Given the description of an element on the screen output the (x, y) to click on. 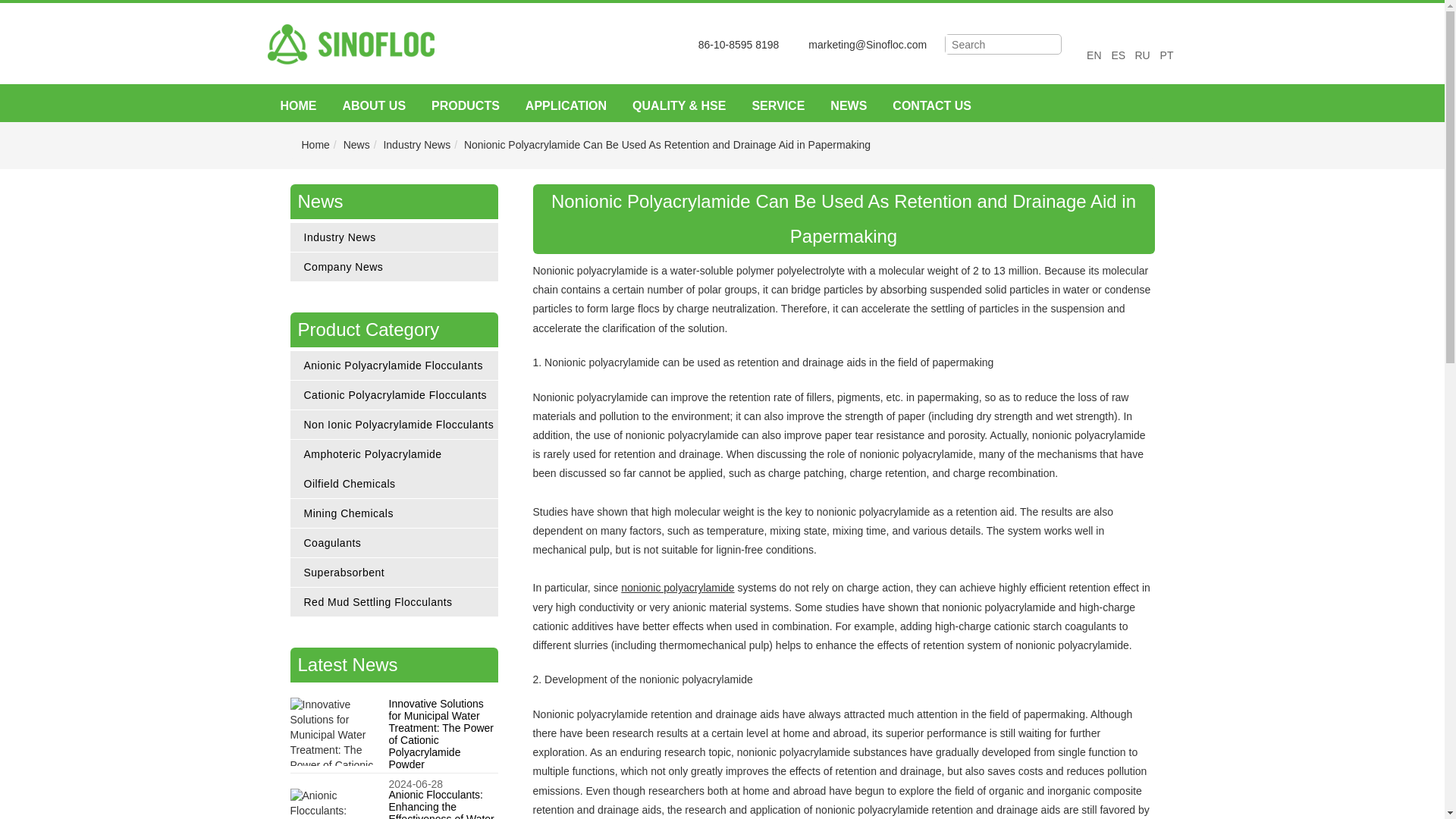
News (356, 144)
NEWS (847, 105)
SERVICE (777, 105)
Industry News (415, 144)
ABOUT US (374, 105)
HOME (297, 105)
PRODUCTS (465, 105)
APPLICATION (566, 105)
RU (1142, 55)
